Given the description of an element on the screen output the (x, y) to click on. 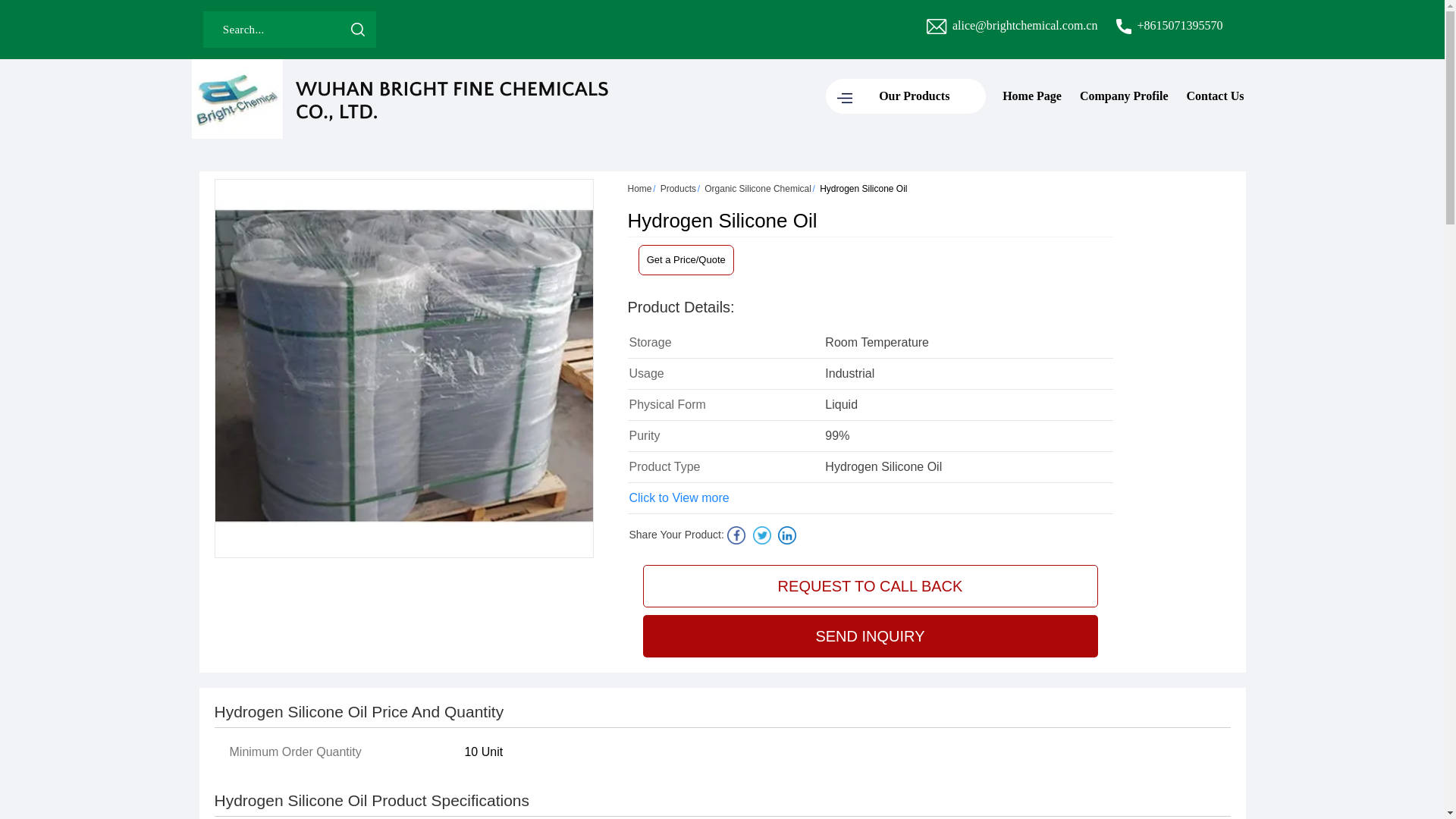
Our Products (905, 95)
WUHAN BRIGHT FINE CHEMICALS CO., LTD.  (398, 98)
Search (357, 29)
submit (357, 29)
Search... (270, 29)
Search... (270, 29)
